Given the description of an element on the screen output the (x, y) to click on. 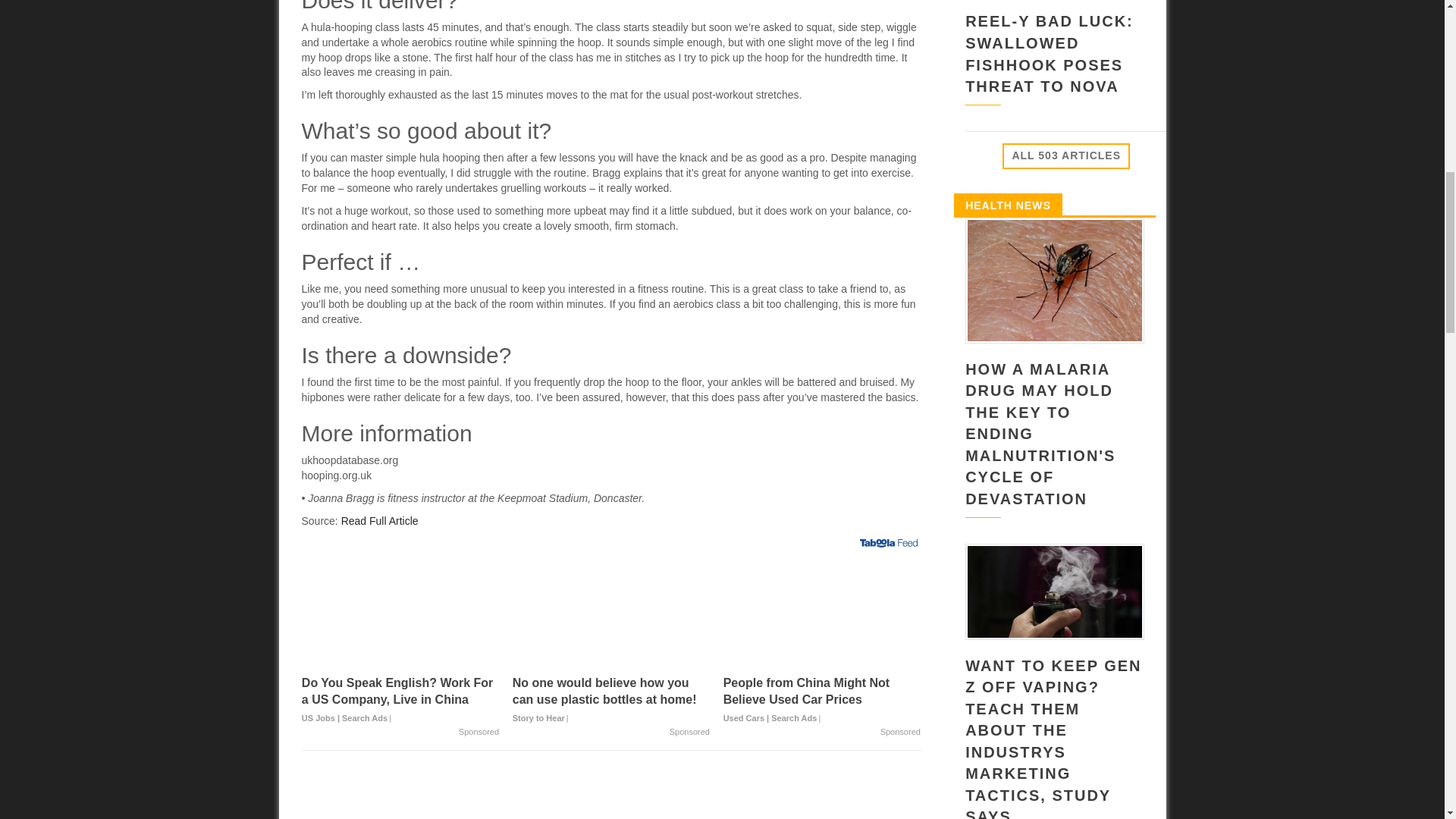
Do You Speak English? Work For a US Company, Live in China (400, 700)
Do You Speak English? Work For a US Company, Live in China (400, 614)
Sponsored (900, 732)
Sponsored (478, 732)
Sponsored (689, 732)
Read Full Article (379, 521)
